Given the description of an element on the screen output the (x, y) to click on. 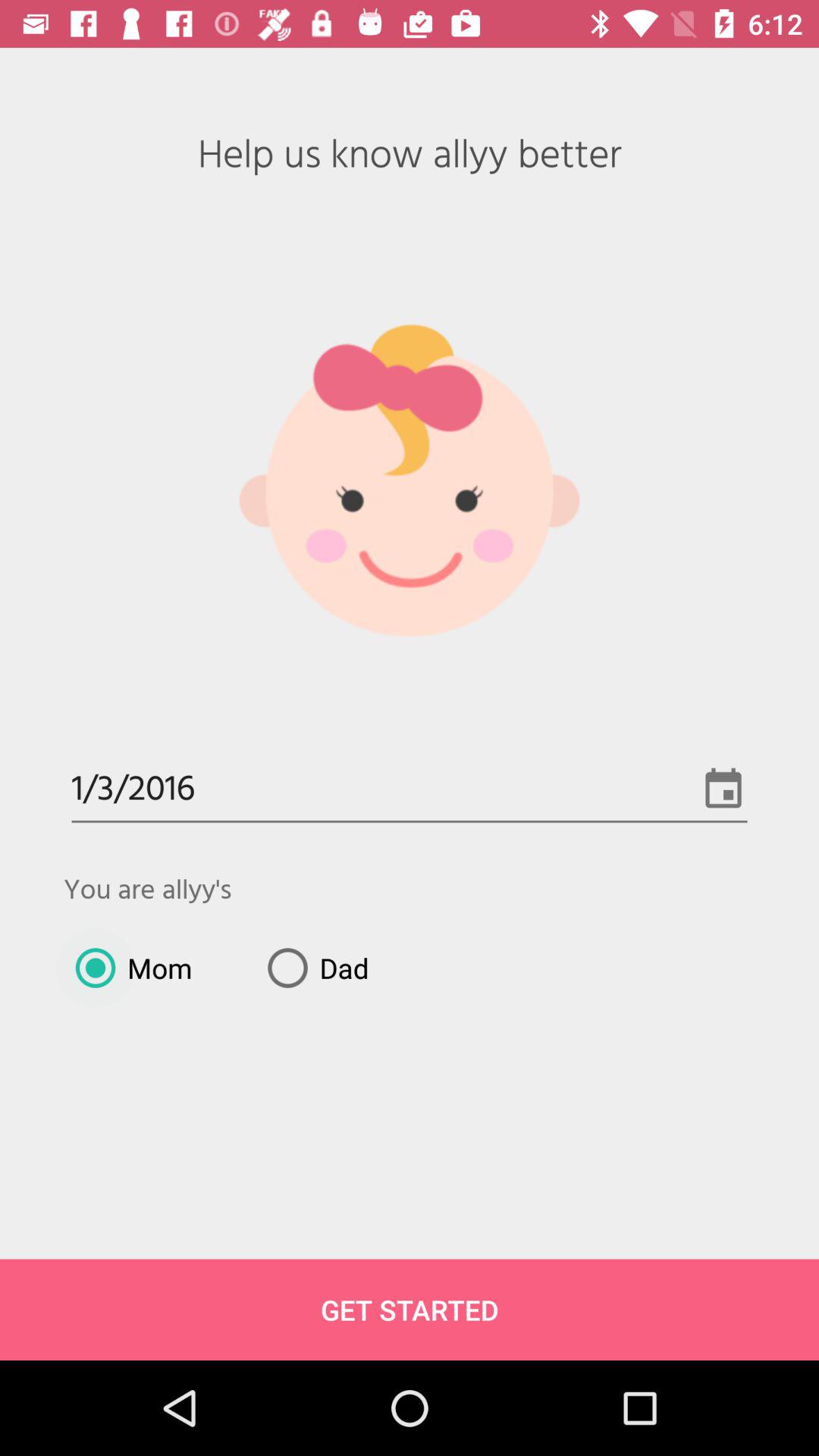
tap the icon to the left of the dad item (127, 967)
